Given the description of an element on the screen output the (x, y) to click on. 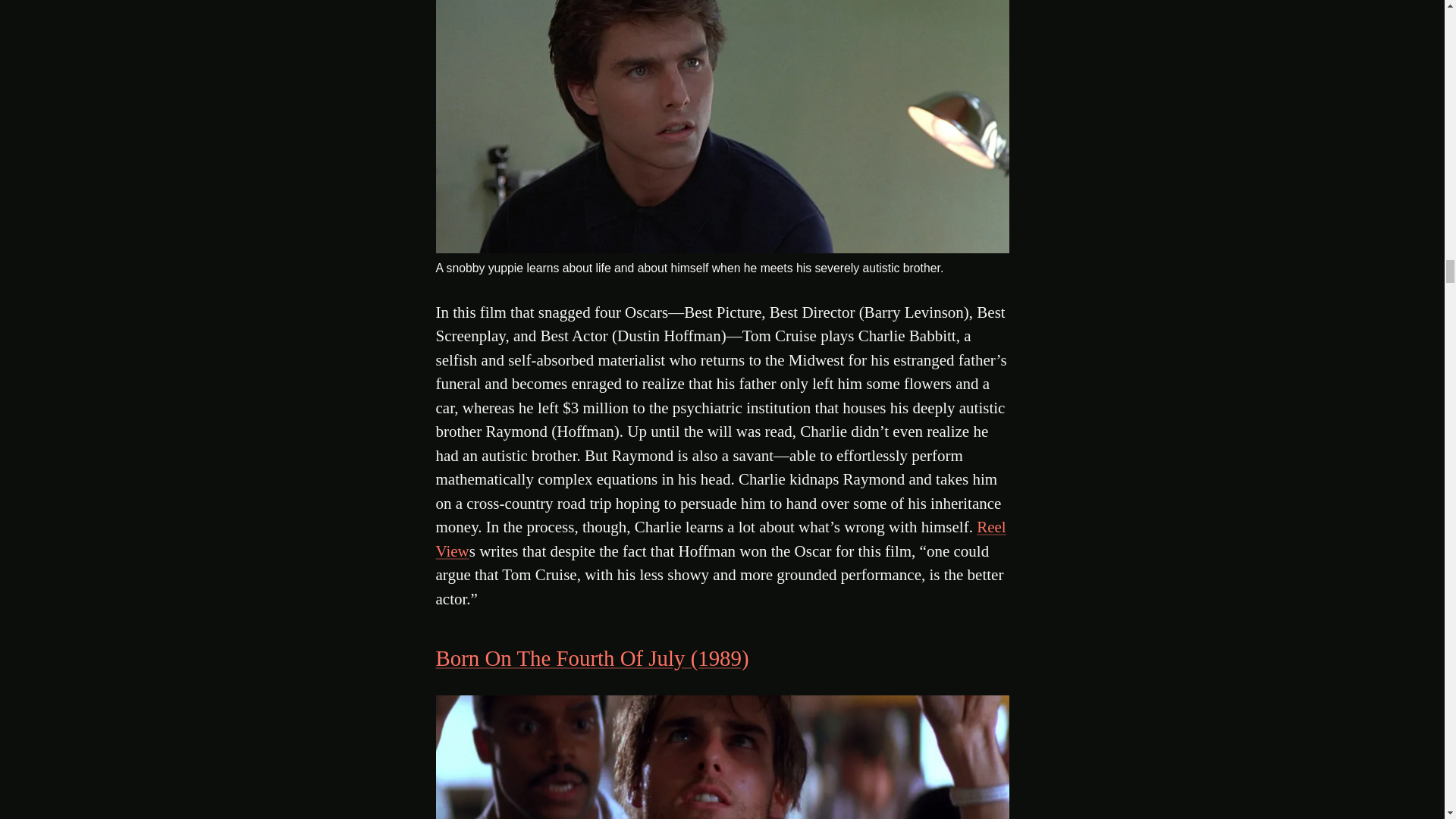
Reel View (720, 538)
